Given the description of an element on the screen output the (x, y) to click on. 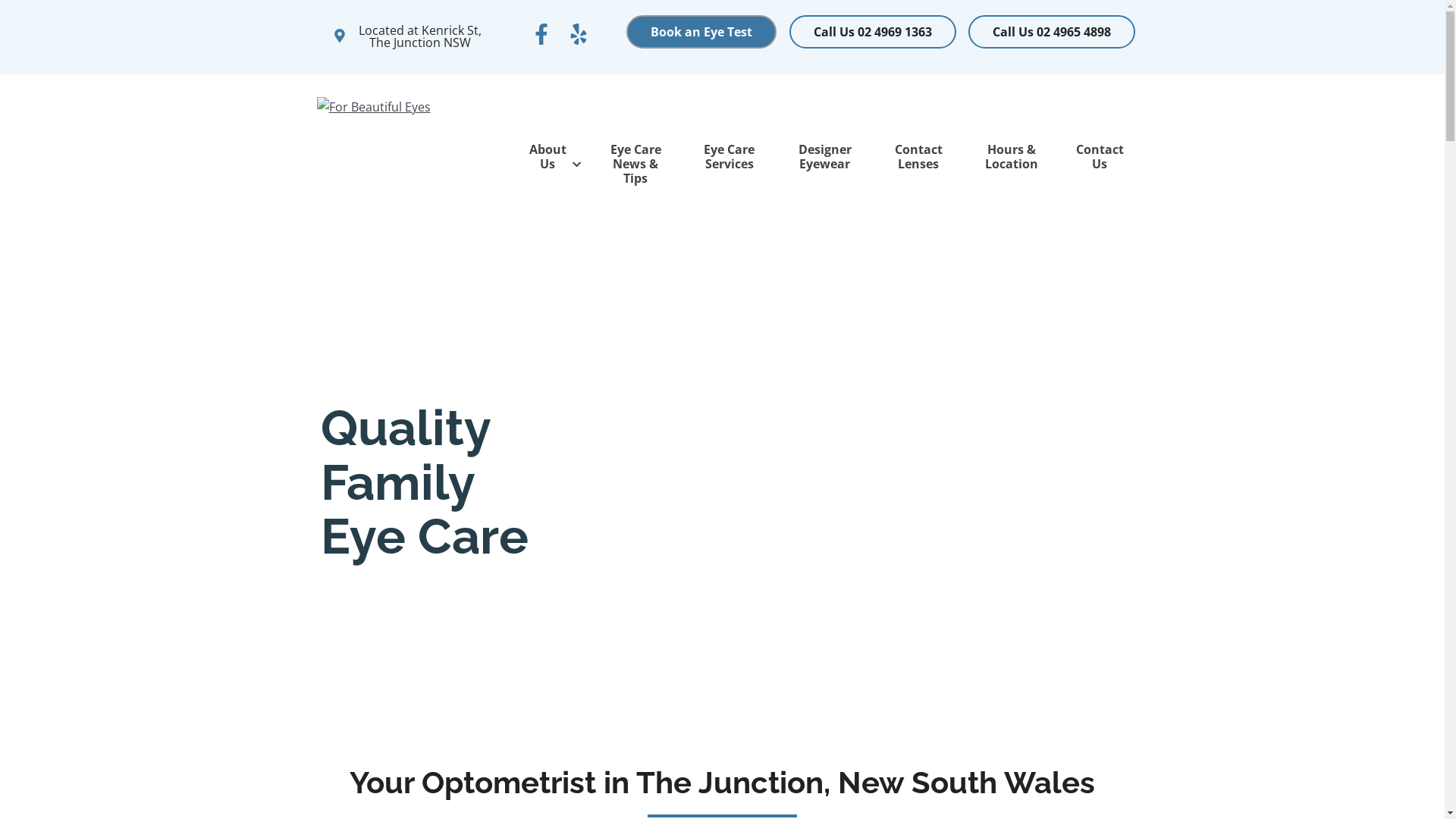
Contact Us Element type: text (1099, 156)
Eye Care Services Element type: text (728, 156)
Contact Lenses Element type: text (918, 156)
Hours & Location Element type: text (1011, 156)
Call Us 02 4969 1363 Element type: text (872, 31)
Call Us 02 4965 4898 Element type: text (1051, 31)
About Us Element type: text (550, 156)
Eye Care News & Tips Element type: text (634, 164)
Designer Eyewear Element type: text (824, 156)
Located at Kenrick St, The Junction NSW Element type: text (410, 37)
Book an Eye Test Element type: text (701, 31)
